Given the description of an element on the screen output the (x, y) to click on. 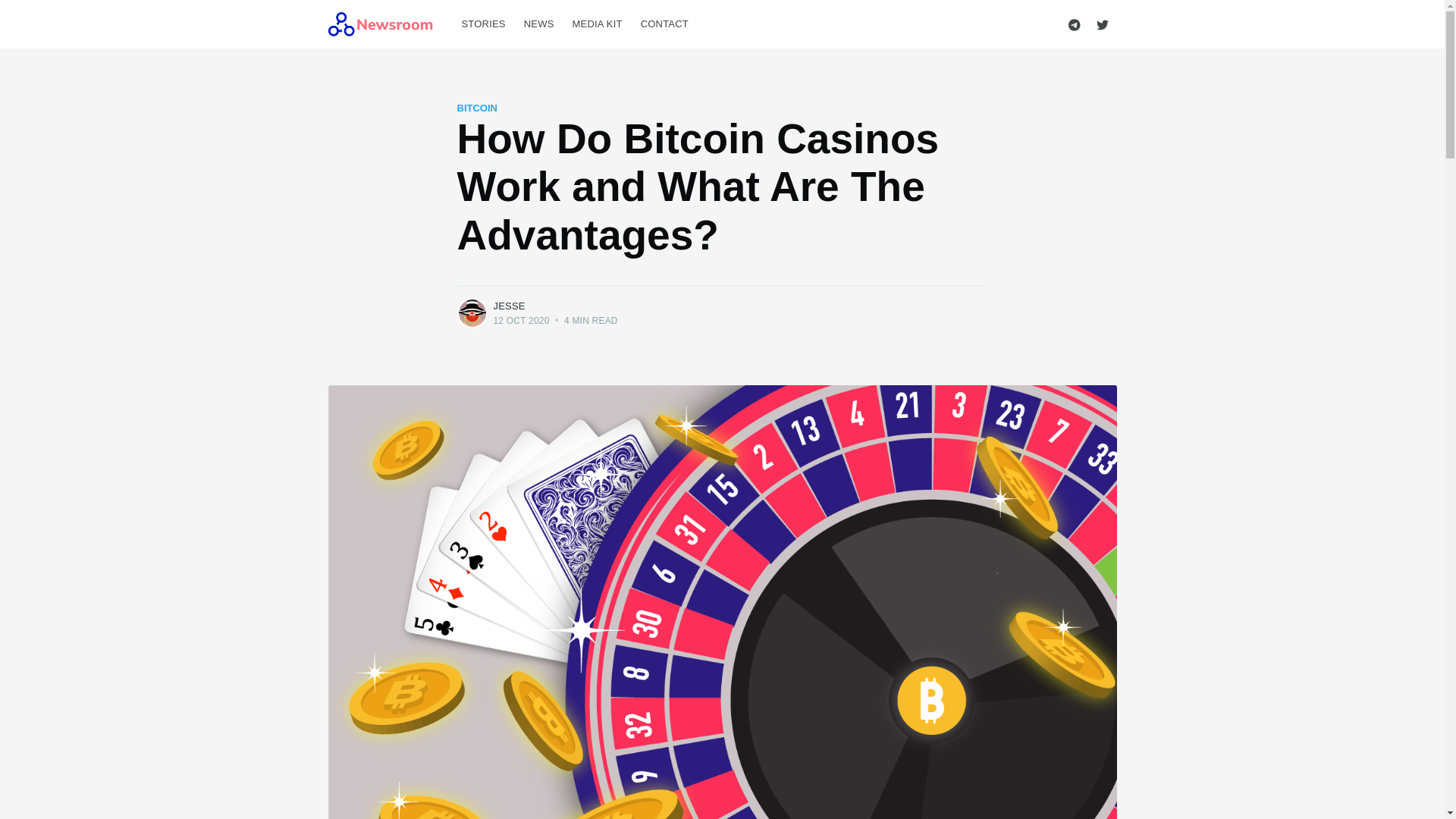
BITCOIN (476, 108)
MEDIA KIT (597, 24)
STORIES (482, 24)
JESSE (508, 306)
CONTACT (664, 24)
NEWS (539, 24)
